Given the description of an element on the screen output the (x, y) to click on. 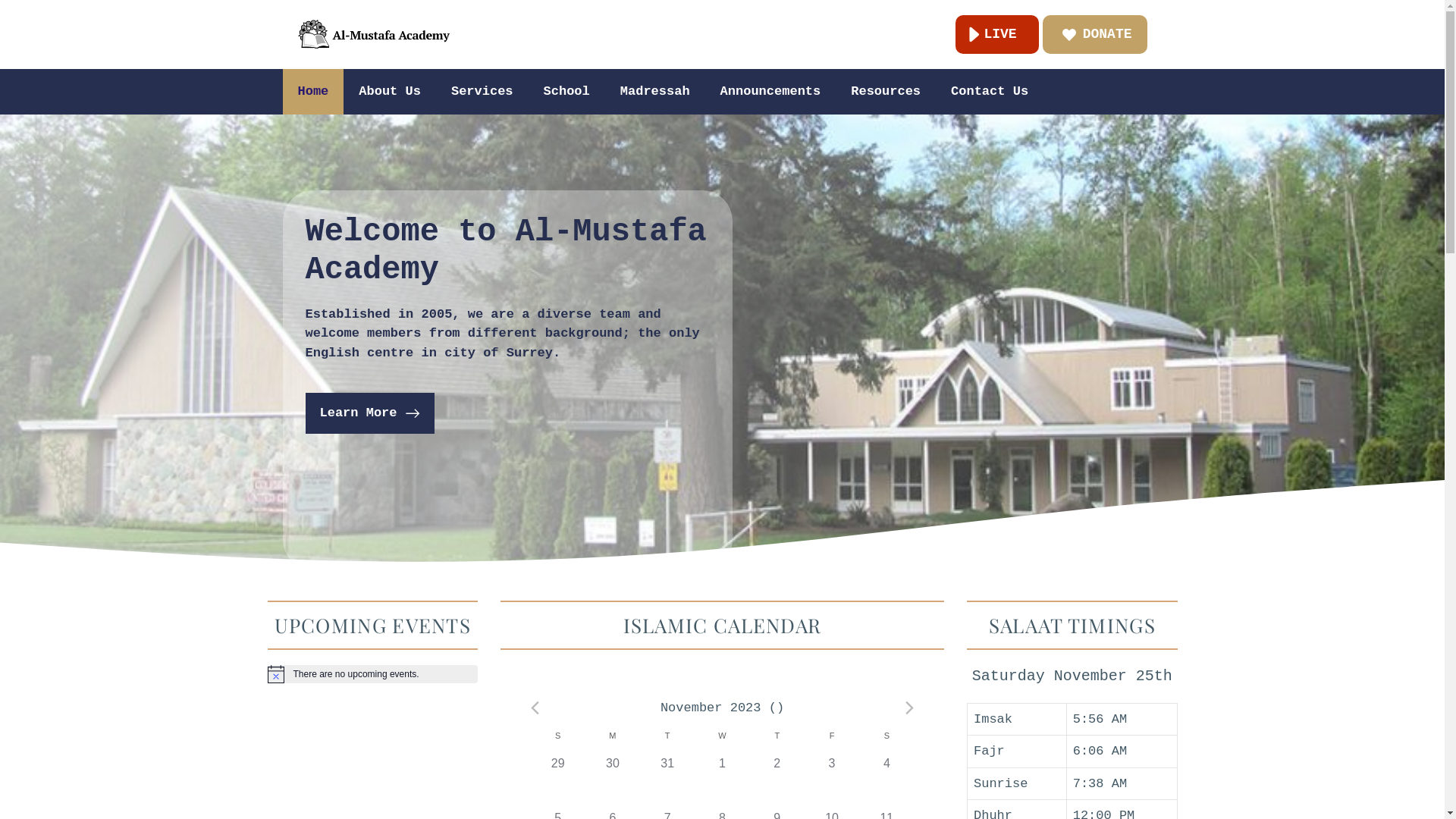
Resources Element type: text (885, 91)
Previous month Element type: hover (534, 707)
DONATE Element type: text (1094, 34)
Next month Element type: hover (909, 707)
Learn More Element type: text (369, 412)
0 events,
1 Element type: text (721, 781)
0 events,
3 Element type: text (831, 781)
0 events,
4 Element type: text (886, 781)
School Element type: text (566, 91)
About Us Element type: text (389, 91)
0 events,
2 Element type: text (776, 781)
Announcements Element type: text (770, 91)
Home Element type: text (312, 91)
LIVE Element type: text (996, 34)
0 events,
30 Element type: text (612, 781)
0 events,
29 Element type: text (557, 781)
0 events,
31 Element type: text (667, 781)
Services Element type: text (482, 91)
Madressah Element type: text (655, 91)
Contact Us Element type: text (989, 91)
